Given the description of an element on the screen output the (x, y) to click on. 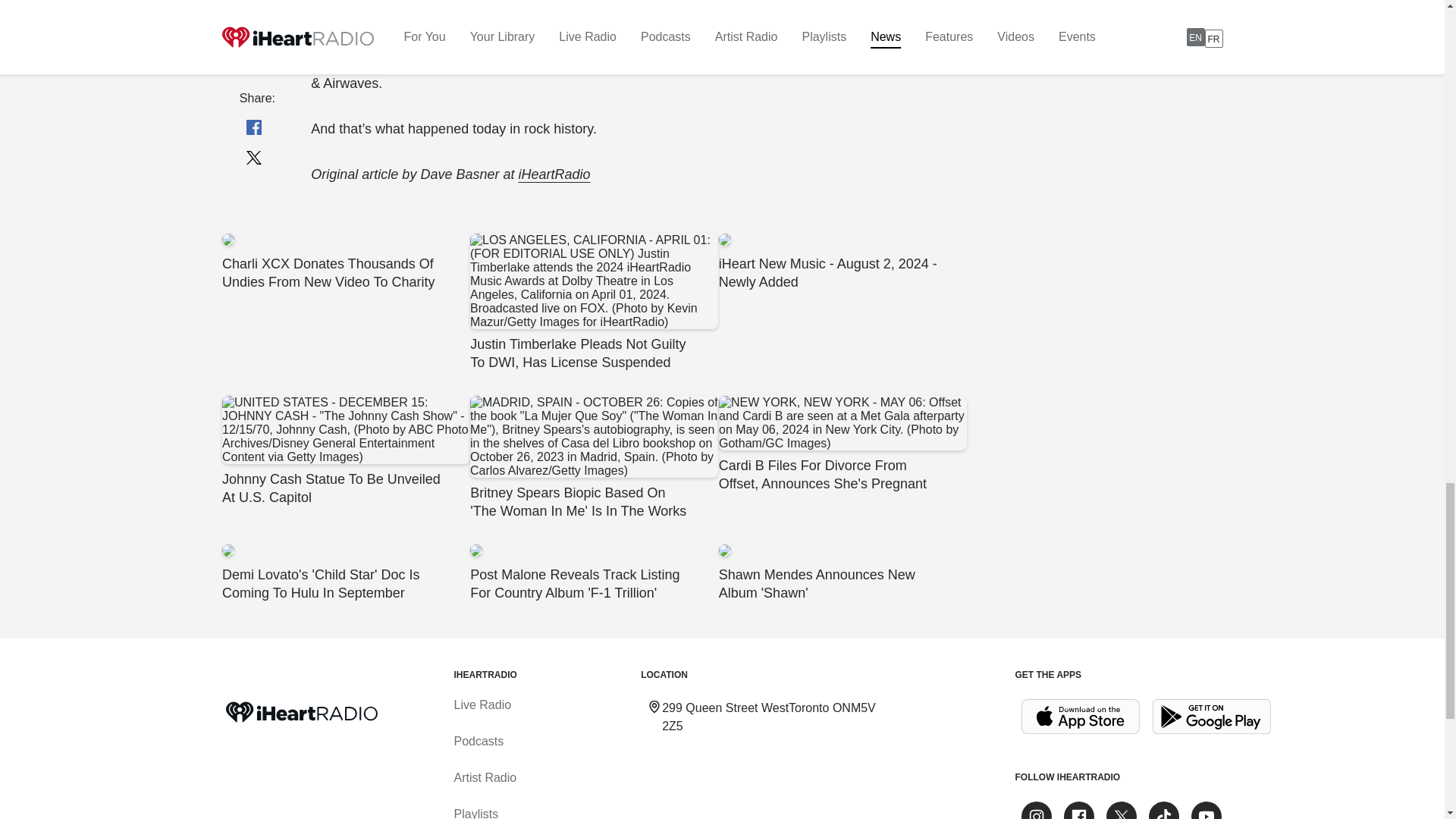
Playlists (474, 813)
iHeart New Music - August 2, 2024 - Newly Added (841, 262)
iHeartRadio (553, 174)
iHeart New Music - August 2, 2024 - Newly Added (841, 262)
Podcasts (477, 740)
Johnny Cash Statue To Be Unveiled At U.S. Capitol (344, 450)
Johnny Cash Statue To Be Unveiled At U.S. Capitol (344, 450)
